Given the description of an element on the screen output the (x, y) to click on. 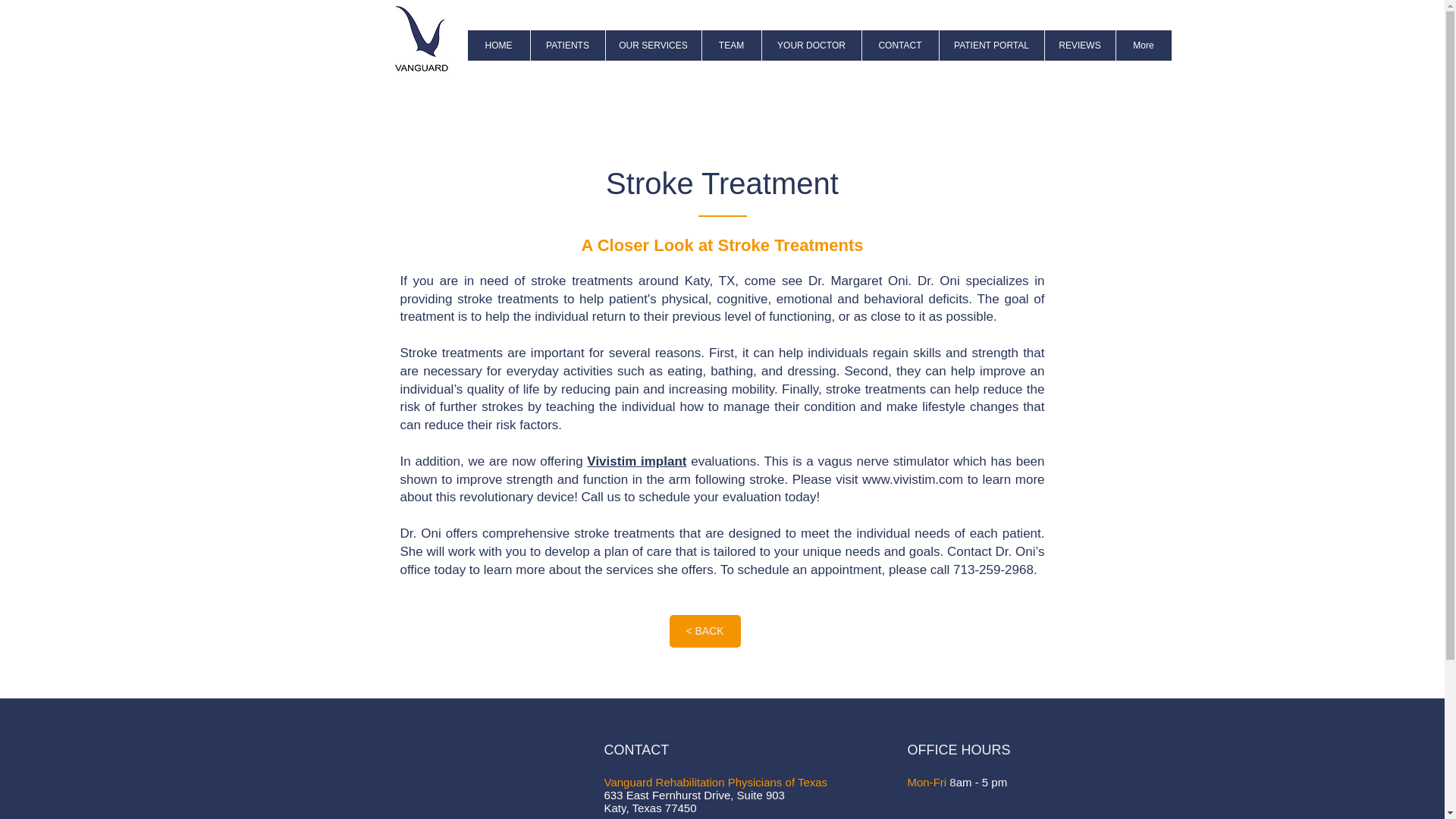
PATIENT PORTAL (991, 45)
www.vivistim.com (911, 479)
YOUR DOCTOR (811, 45)
Embedded Content (484, 768)
TEAM (730, 45)
OUR SERVICES (653, 45)
REVIEWS (1079, 45)
PATIENTS (566, 45)
HOME (498, 45)
CONTACT (900, 45)
